Given the description of an element on the screen output the (x, y) to click on. 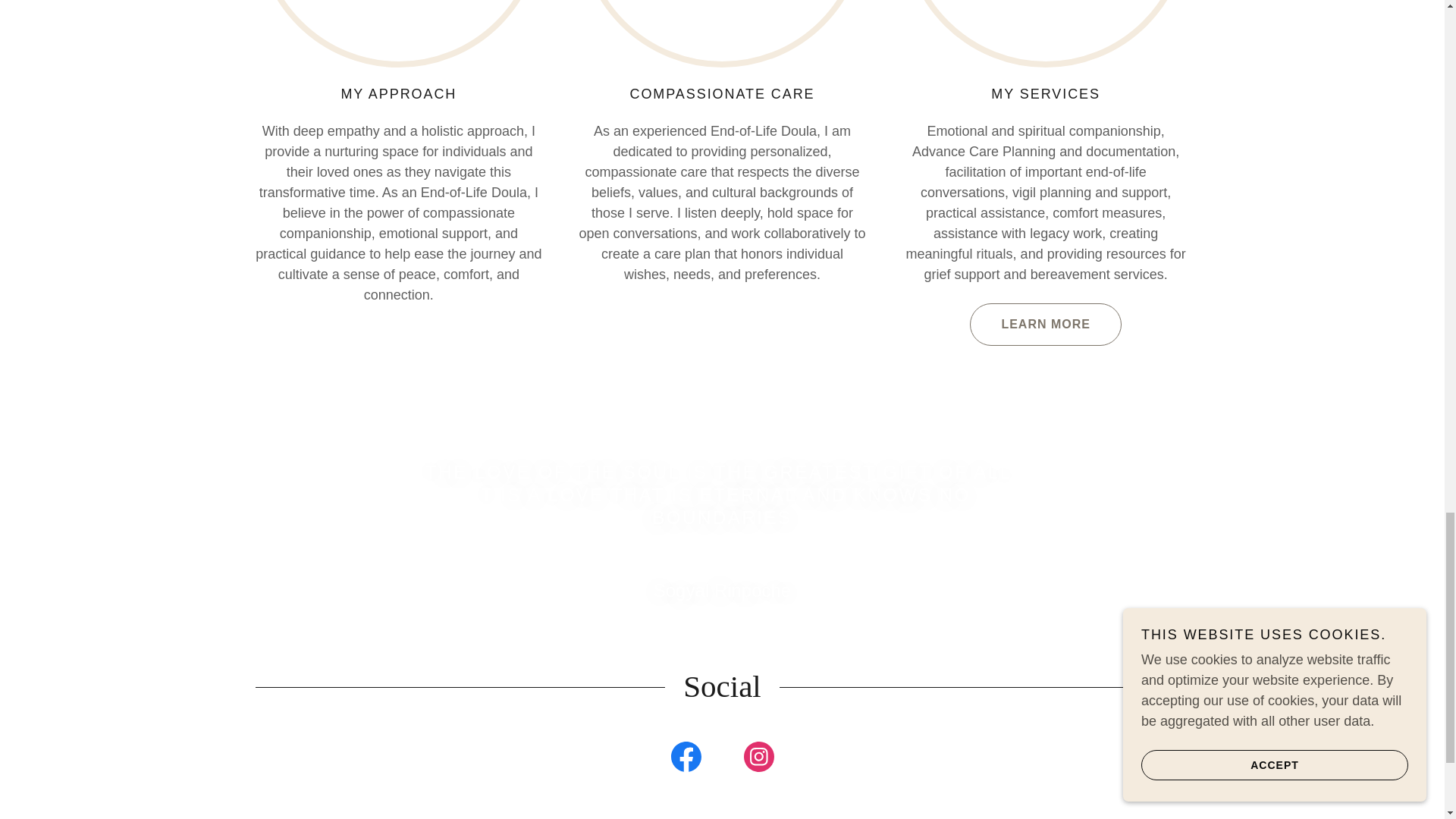
LEARN MORE (1045, 324)
